Given the description of an element on the screen output the (x, y) to click on. 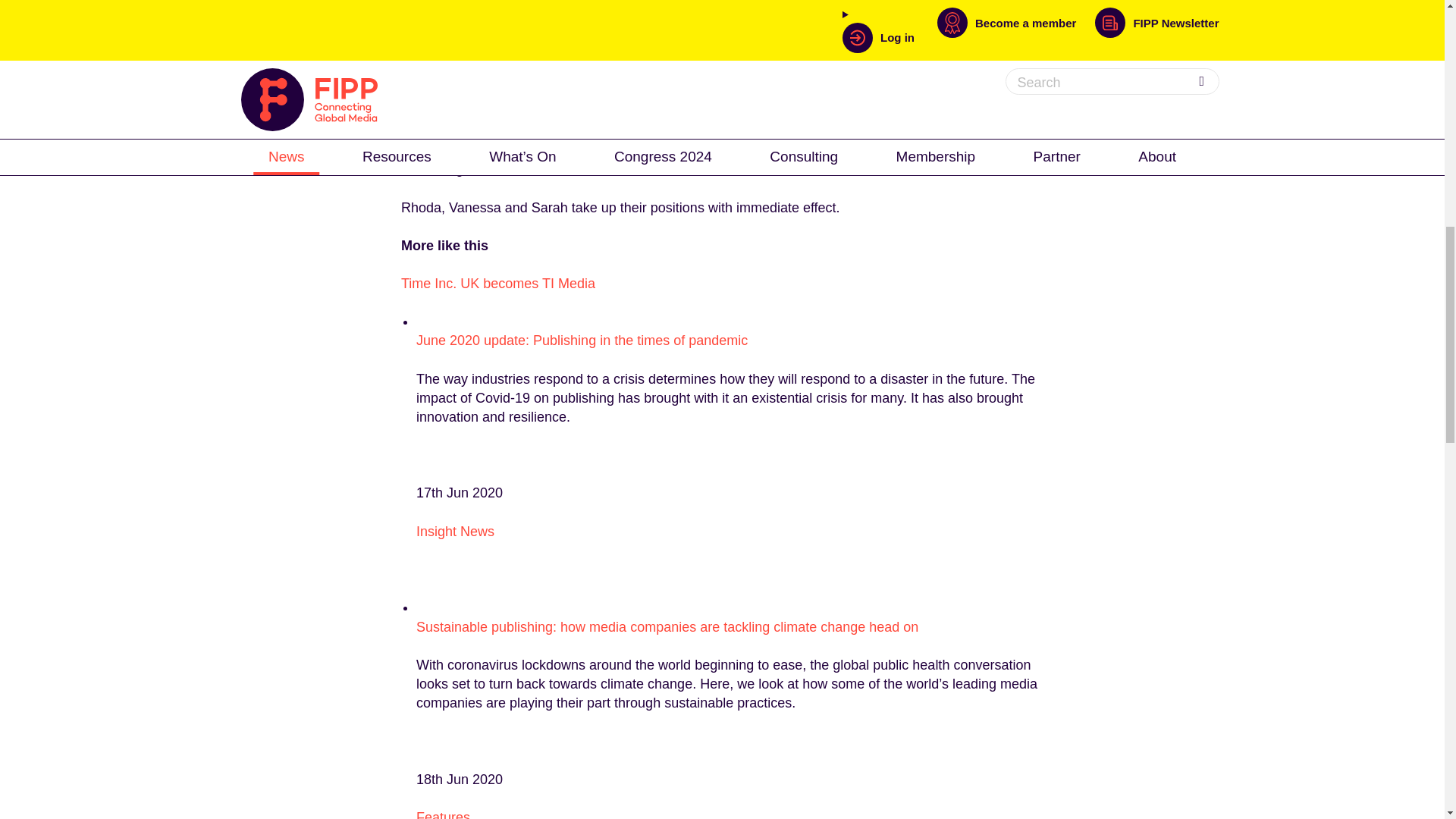
Insight News (455, 531)
Time Inc. UK becomes TI Media (498, 283)
Features (443, 814)
June 2020 update: Publishing in the times of pandemic (582, 340)
